Given the description of an element on the screen output the (x, y) to click on. 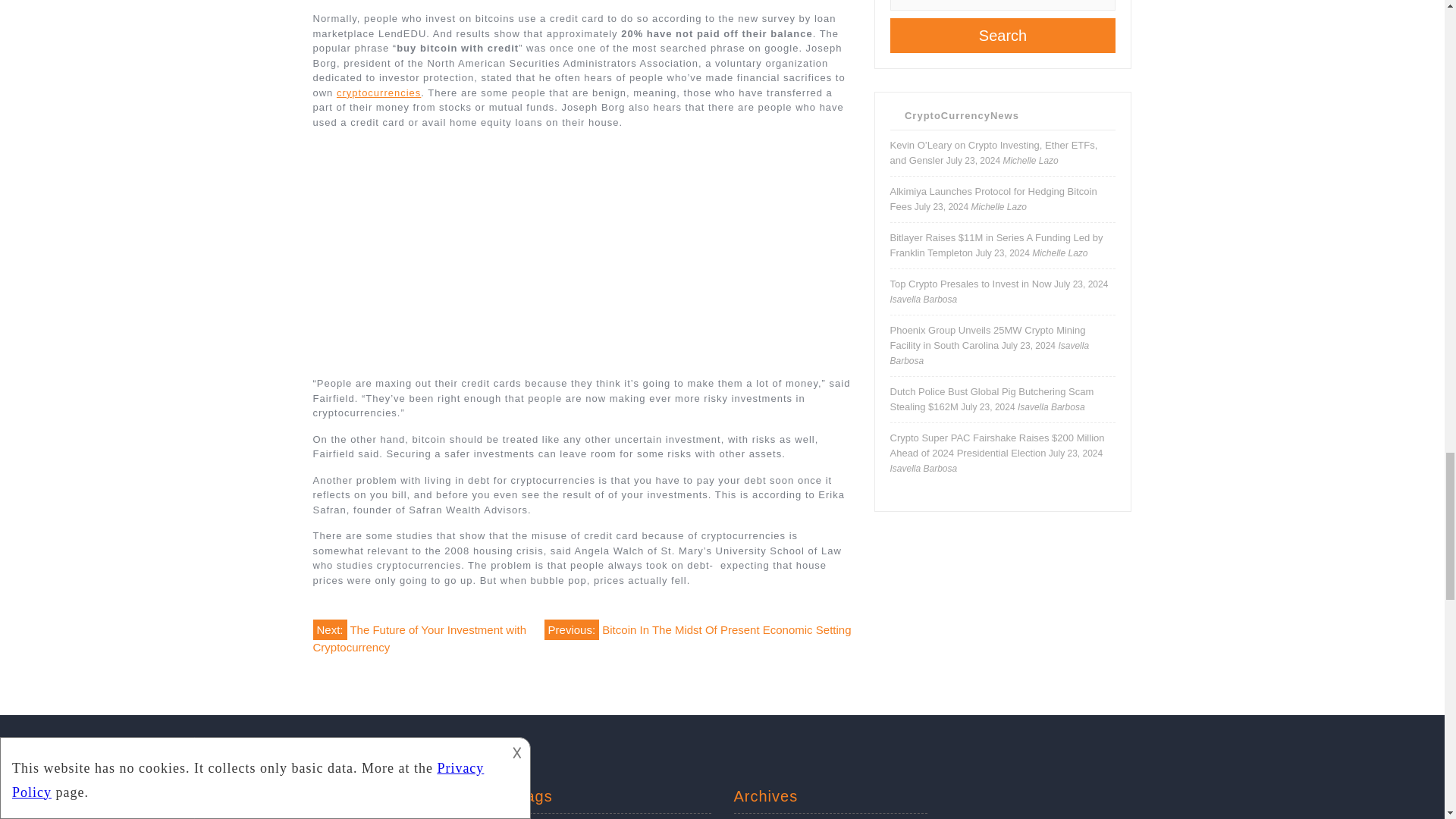
Previous: Bitcoin In The Midst Of Present Economic Setting (697, 629)
The risks of bitcoin trading (581, 252)
Top Crypto Presales to Invest in Now (970, 283)
Next: The Future of Your Investment with Cryptocurrency (419, 636)
Search (1002, 35)
cryptocurrencies (378, 92)
Alkimiya Launches Protocol for Hedging Bitcoin Fees (993, 198)
CryptoCurrencyNews (961, 115)
